Given the description of an element on the screen output the (x, y) to click on. 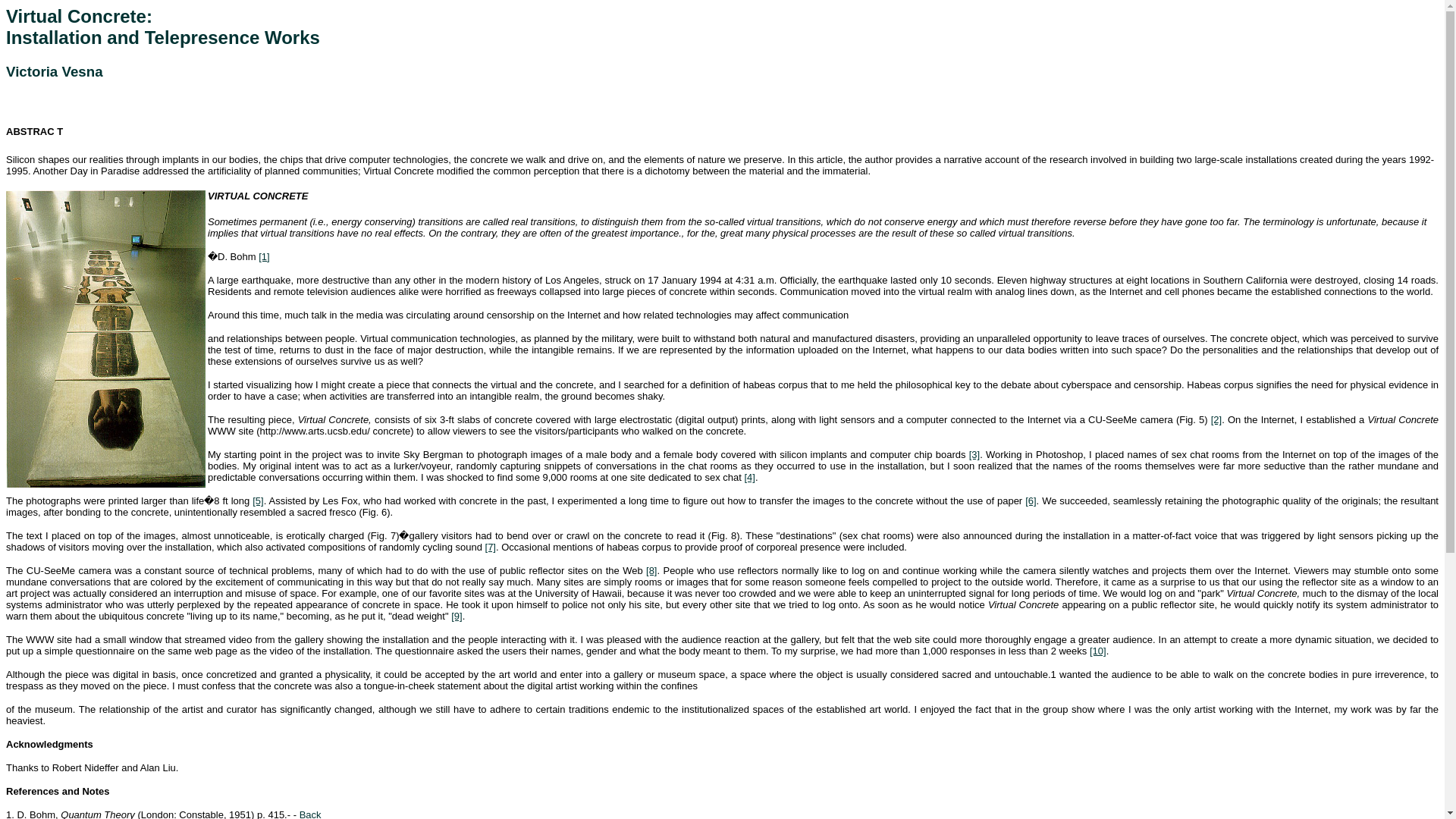
Back (310, 814)
